Given the description of an element on the screen output the (x, y) to click on. 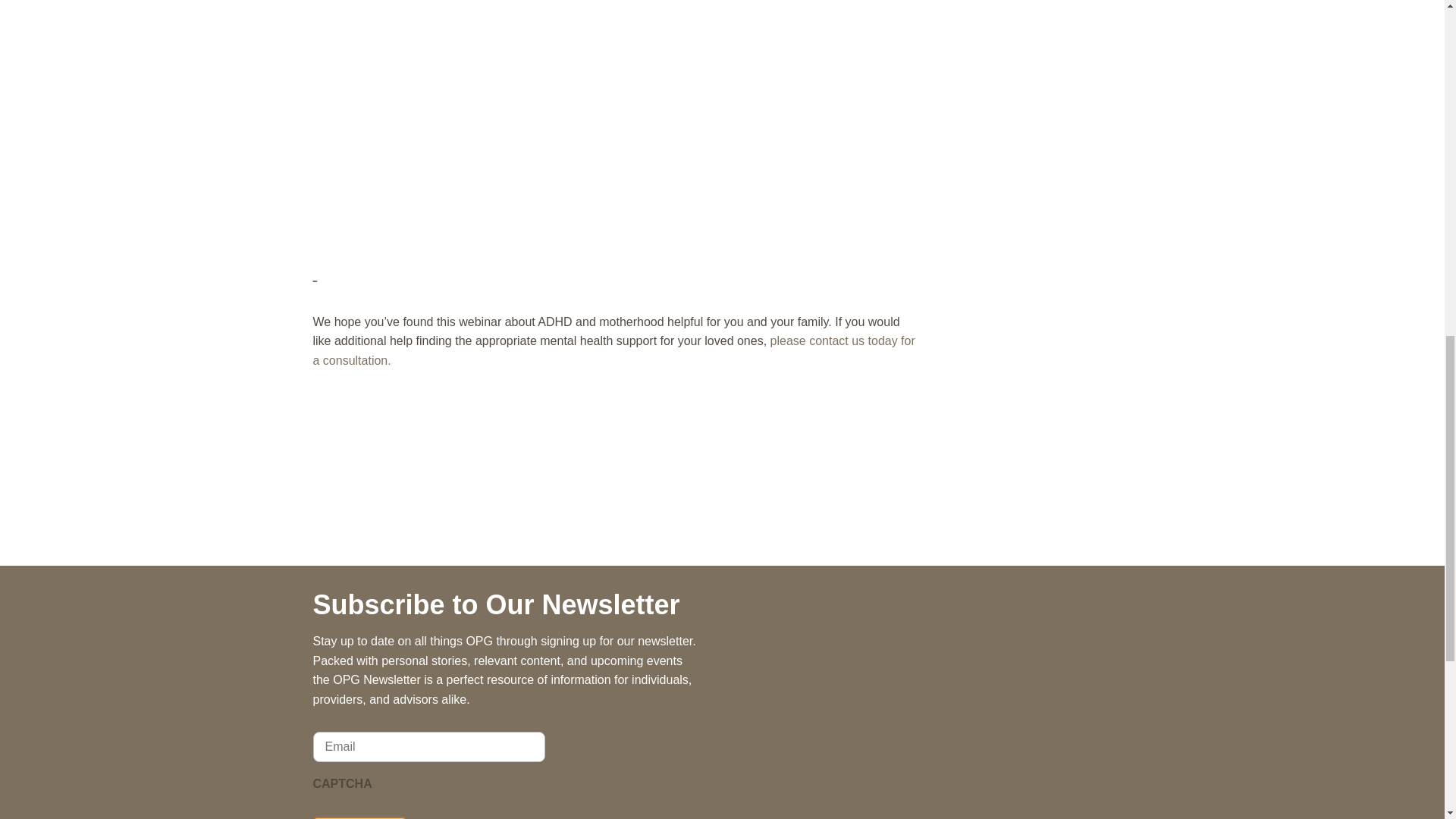
Sign Up Here (359, 817)
